Given the description of an element on the screen output the (x, y) to click on. 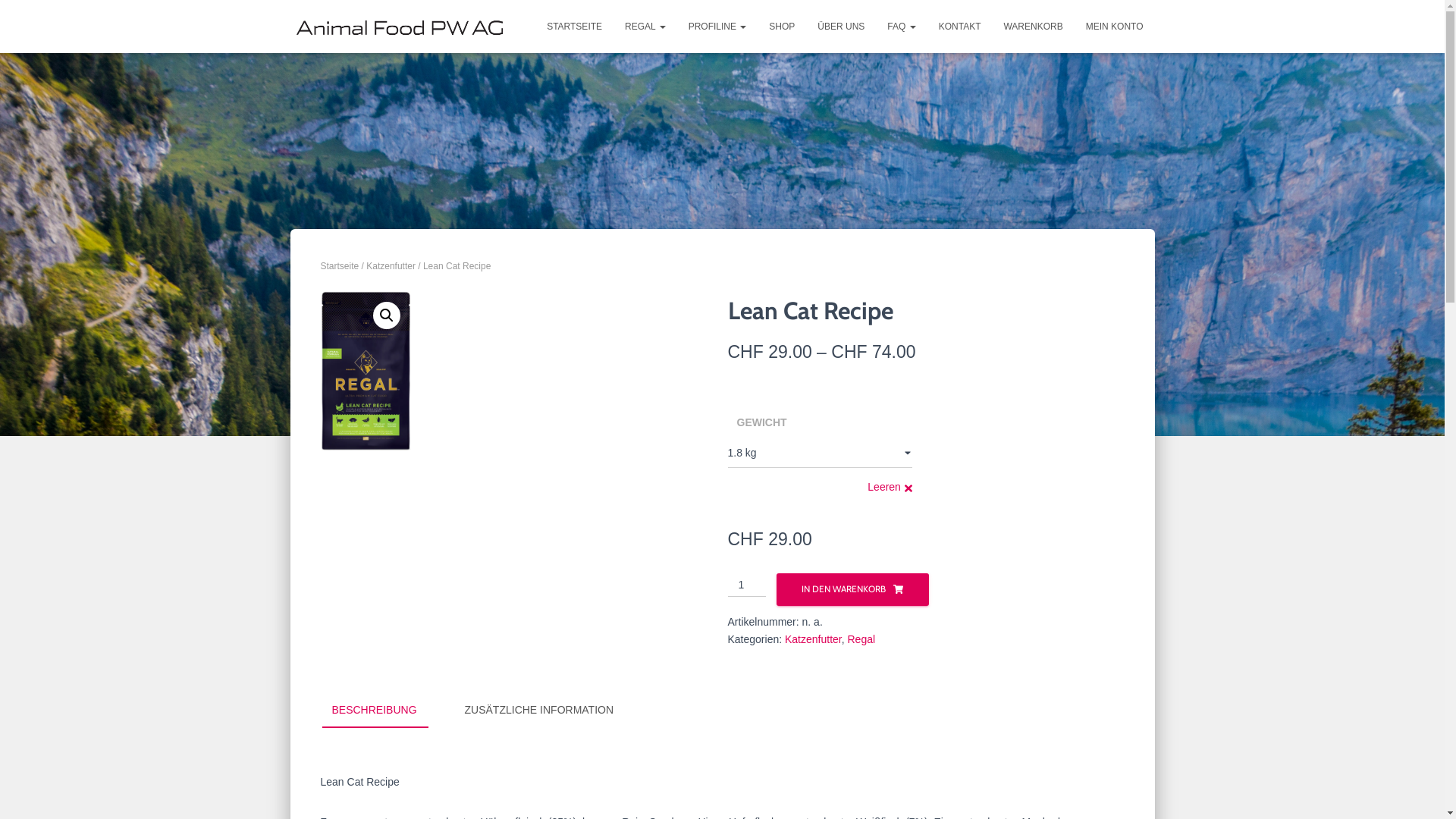
Leeren Element type: text (889, 486)
REGAL Element type: text (645, 26)
WARENKORB Element type: text (1032, 26)
Katzenfutter Element type: text (390, 265)
Regal Element type: text (861, 639)
New Product Thumbnail (Lean Cat Diet Recipe) - 2.22.2020 Element type: hover (365, 370)
Katzenfutter Element type: text (812, 639)
PROFILINE Element type: text (717, 26)
FAQ Element type: text (900, 26)
IN DEN WARENKORB Element type: text (852, 589)
BESCHREIBUNG Element type: text (373, 710)
SHOP Element type: text (781, 26)
STARTSEITE Element type: text (574, 26)
KONTAKT Element type: text (959, 26)
Animal Food PW AG Element type: hover (399, 26)
Startseite Element type: text (339, 265)
MEIN KONTO Element type: text (1114, 26)
